Given the description of an element on the screen output the (x, y) to click on. 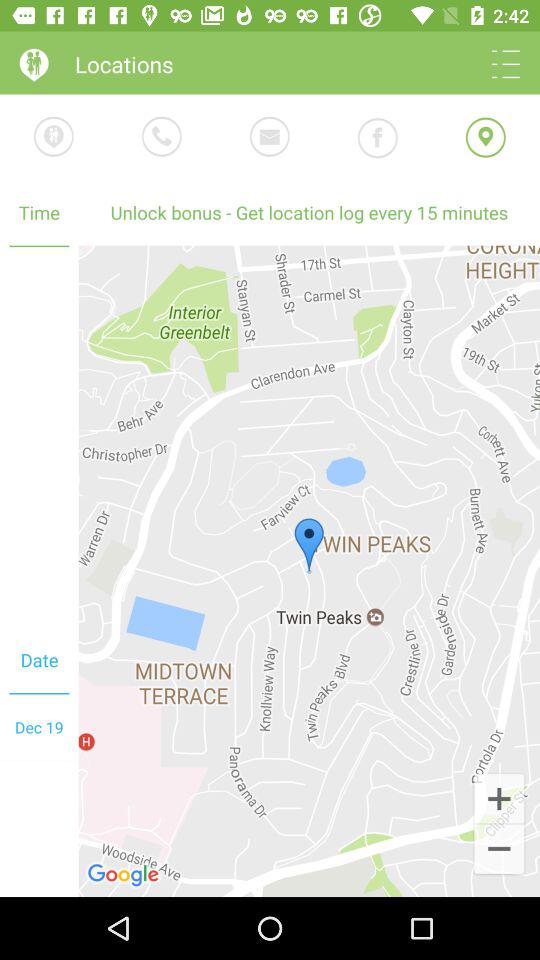
launch the app next to the time app (309, 212)
